Given the description of an element on the screen output the (x, y) to click on. 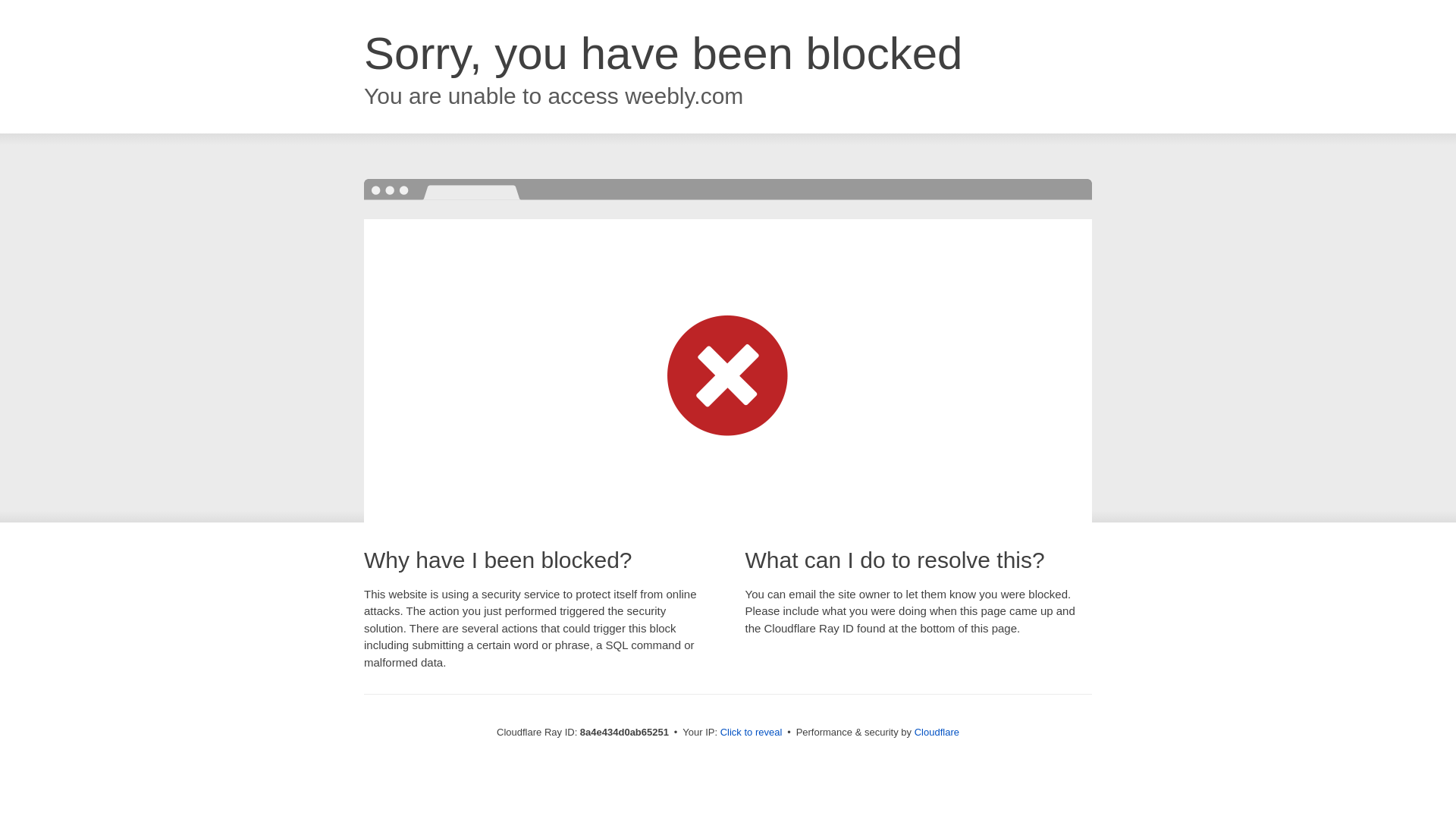
Cloudflare (936, 731)
Click to reveal (751, 732)
